Given the description of an element on the screen output the (x, y) to click on. 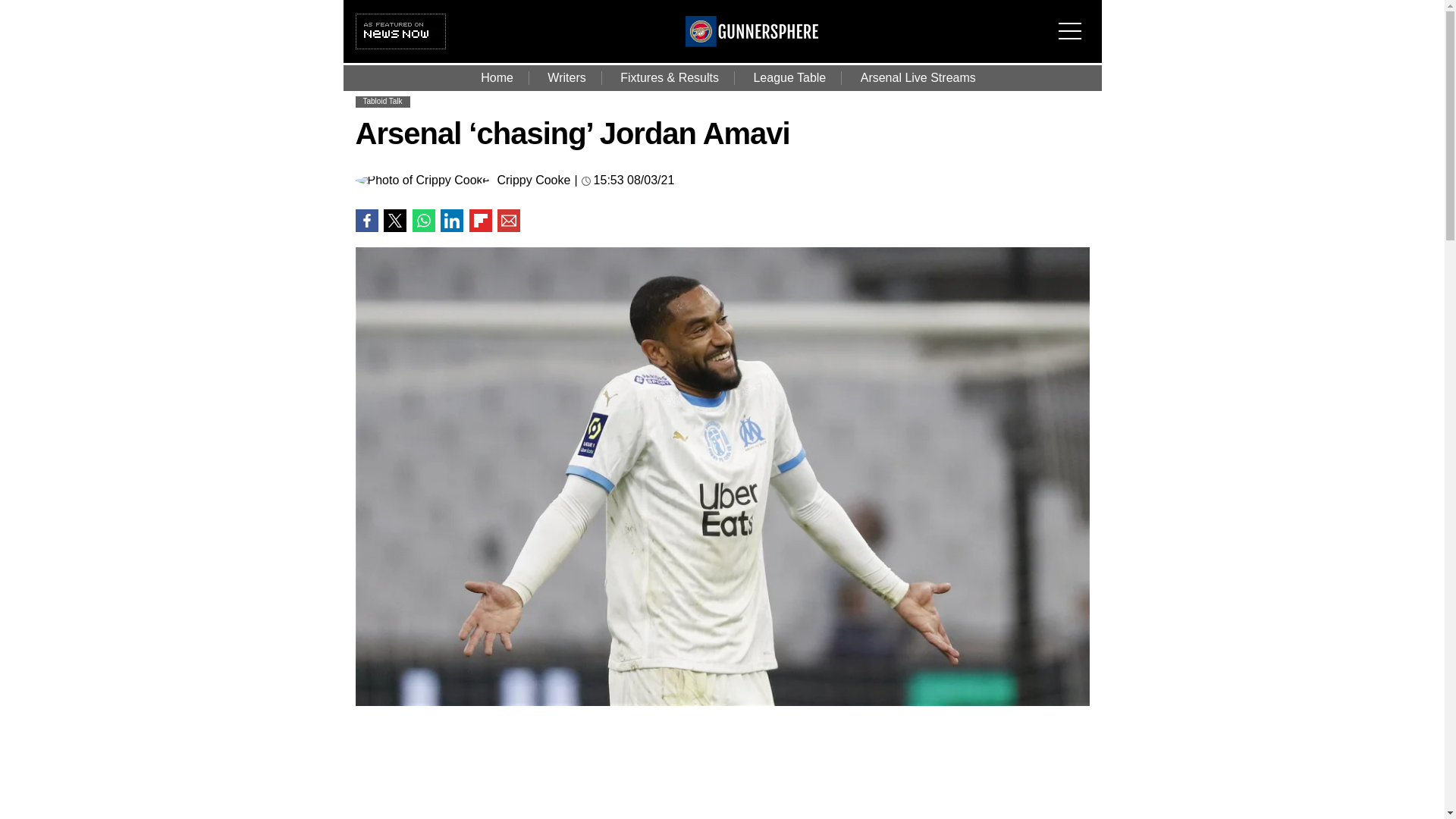
share on Email (508, 220)
Writers (565, 78)
Crippy Cooke (533, 180)
share on WhatsApp (423, 220)
Tabloid Talk (381, 101)
Home (496, 78)
share on LinkedIn (452, 220)
share on Facebook (366, 220)
share on Flipboard (480, 220)
share on Twitter (395, 220)
League Table (789, 78)
Back to the homepage (751, 42)
Menu (1074, 21)
Arsenal Live Streams (918, 78)
